Given the description of an element on the screen output the (x, y) to click on. 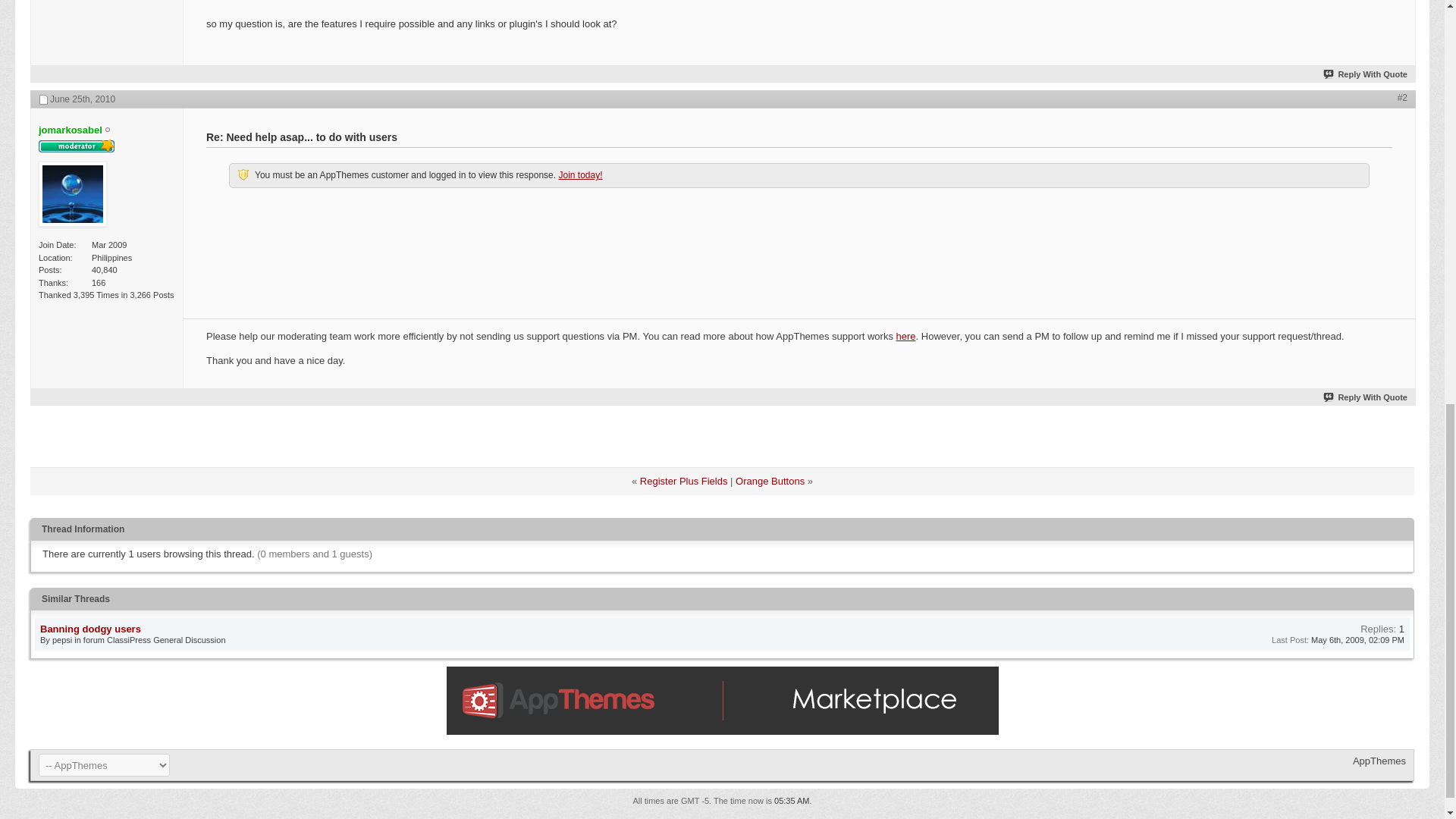
jomarkosabel is offline (107, 130)
Reply With Quote (1364, 397)
jomarkosabel is offline (72, 195)
Orange Buttons (770, 480)
Reply With Quote (1364, 397)
Reply With Quote (1364, 73)
jomarkosabel (70, 129)
jomarkosabel is offline (70, 129)
Banning dodgy users (90, 628)
Join today! (579, 174)
jomarkosabel's Avatar (72, 193)
here (905, 336)
Register Plus Fields (684, 480)
Reply With Quote (1364, 73)
